Given the description of an element on the screen output the (x, y) to click on. 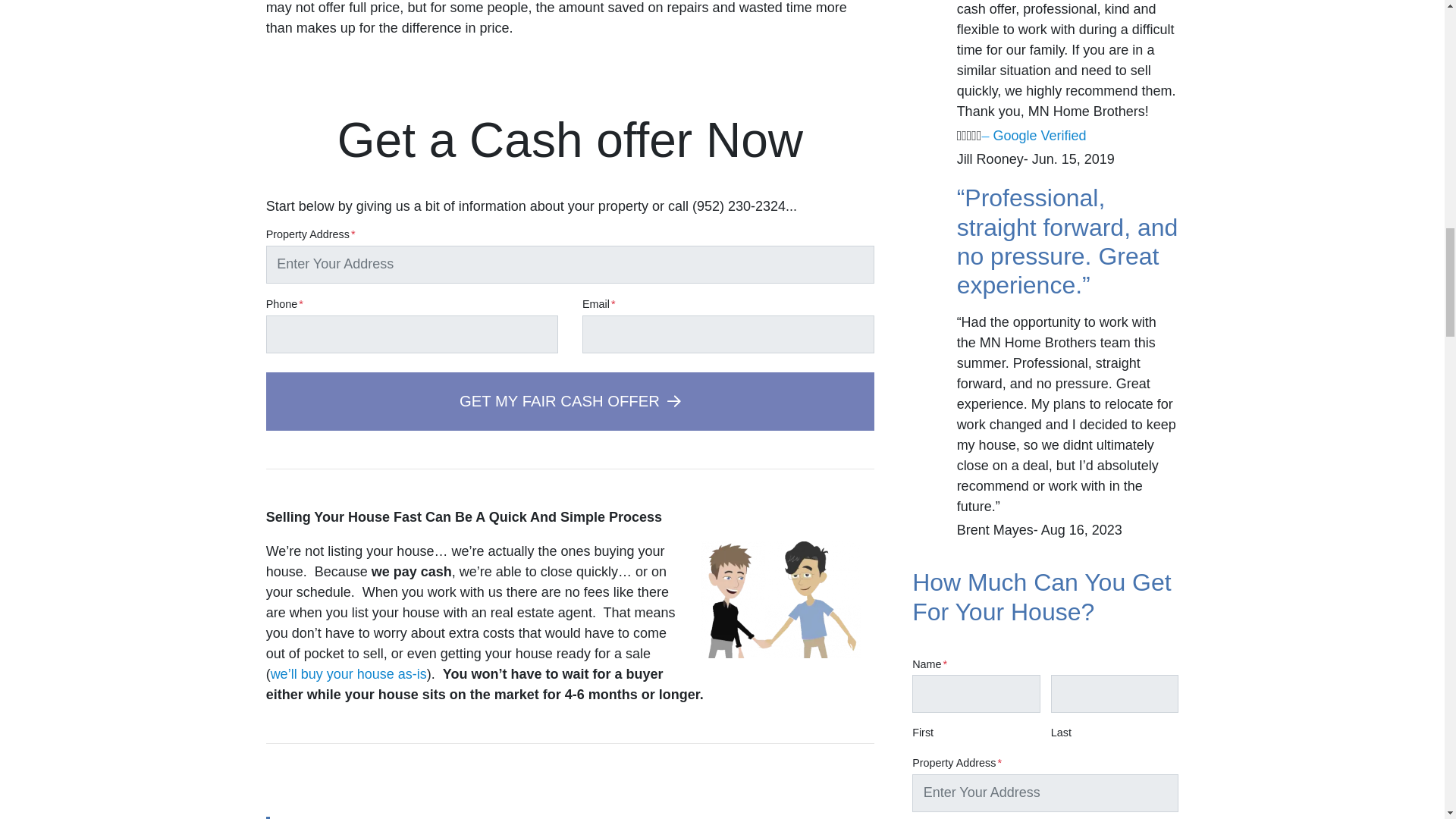
GET MY FAIR CASH OFFER (570, 401)
Google Verified  (1041, 135)
